Given the description of an element on the screen output the (x, y) to click on. 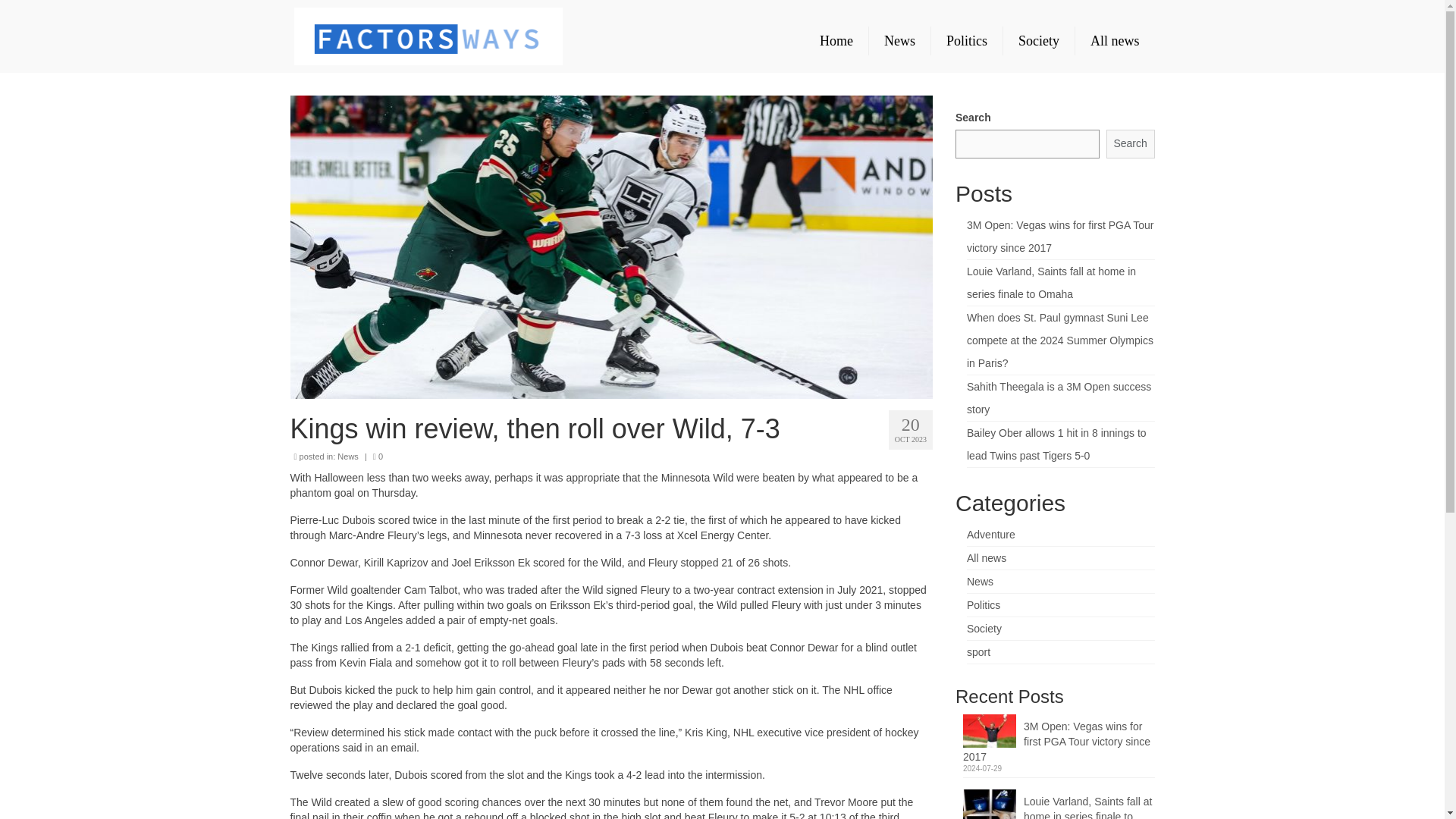
Louie Varland, Saints fall at home in series finale to Omaha (1058, 804)
Society (1038, 40)
News (979, 581)
Politics (983, 604)
Louie Varland, Saints fall at home in series finale to Omaha (1050, 282)
sport (978, 652)
Search (1130, 143)
Society (983, 628)
Louie Varland, Saints fall at home in series finale to Omaha (1058, 804)
3M Open: Vegas wins for first PGA Tour victory since 2017 (1058, 739)
News (347, 456)
All news (986, 558)
3M Open: Vegas wins for first PGA Tour victory since 2017 (1059, 236)
